Given the description of an element on the screen output the (x, y) to click on. 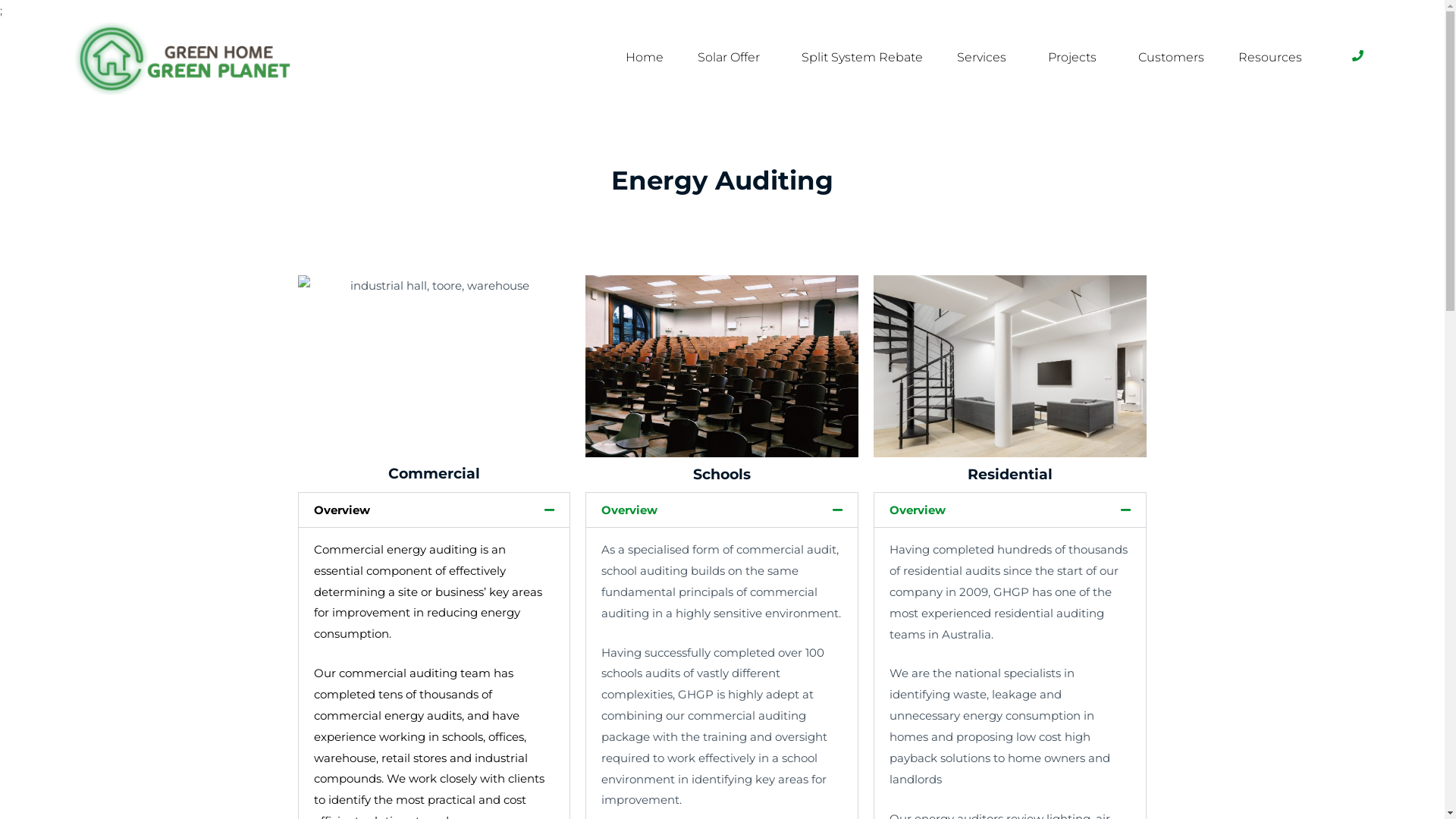
Services Element type: text (985, 57)
Overview Element type: text (341, 509)
Projects Element type: text (1075, 57)
Customers Element type: text (1171, 57)
Home Element type: text (644, 57)
Resources Element type: text (1273, 57)
Overview Element type: text (629, 509)
Overview Element type: text (917, 509)
Split System Rebate Element type: text (862, 57)
Solar Offer Element type: text (732, 57)
